Given the description of an element on the screen output the (x, y) to click on. 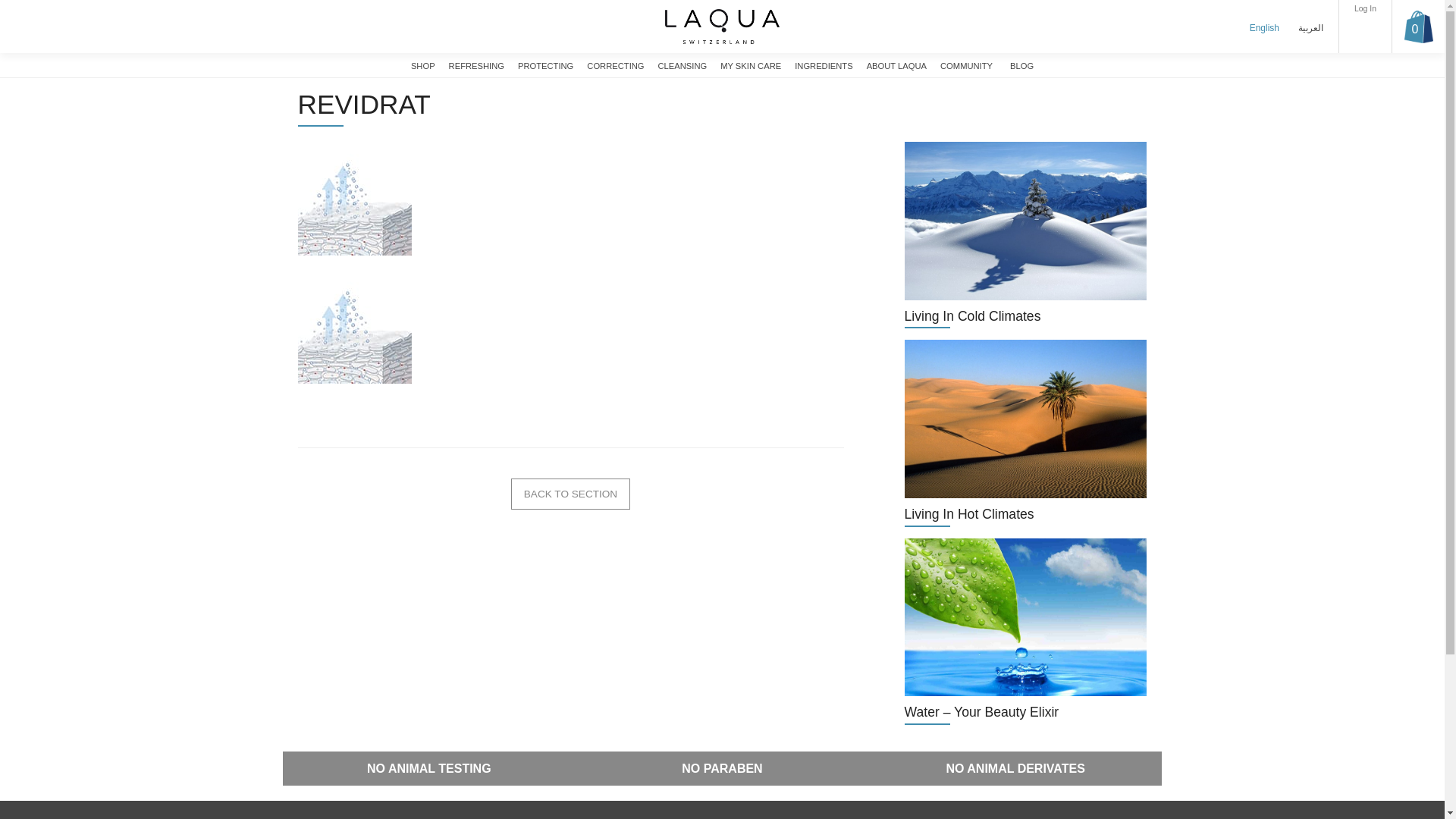
Living In Hot Climates (1025, 432)
English (1264, 27)
Living In Cold Climates (1025, 234)
LAQUA UAE (721, 26)
